Given the description of an element on the screen output the (x, y) to click on. 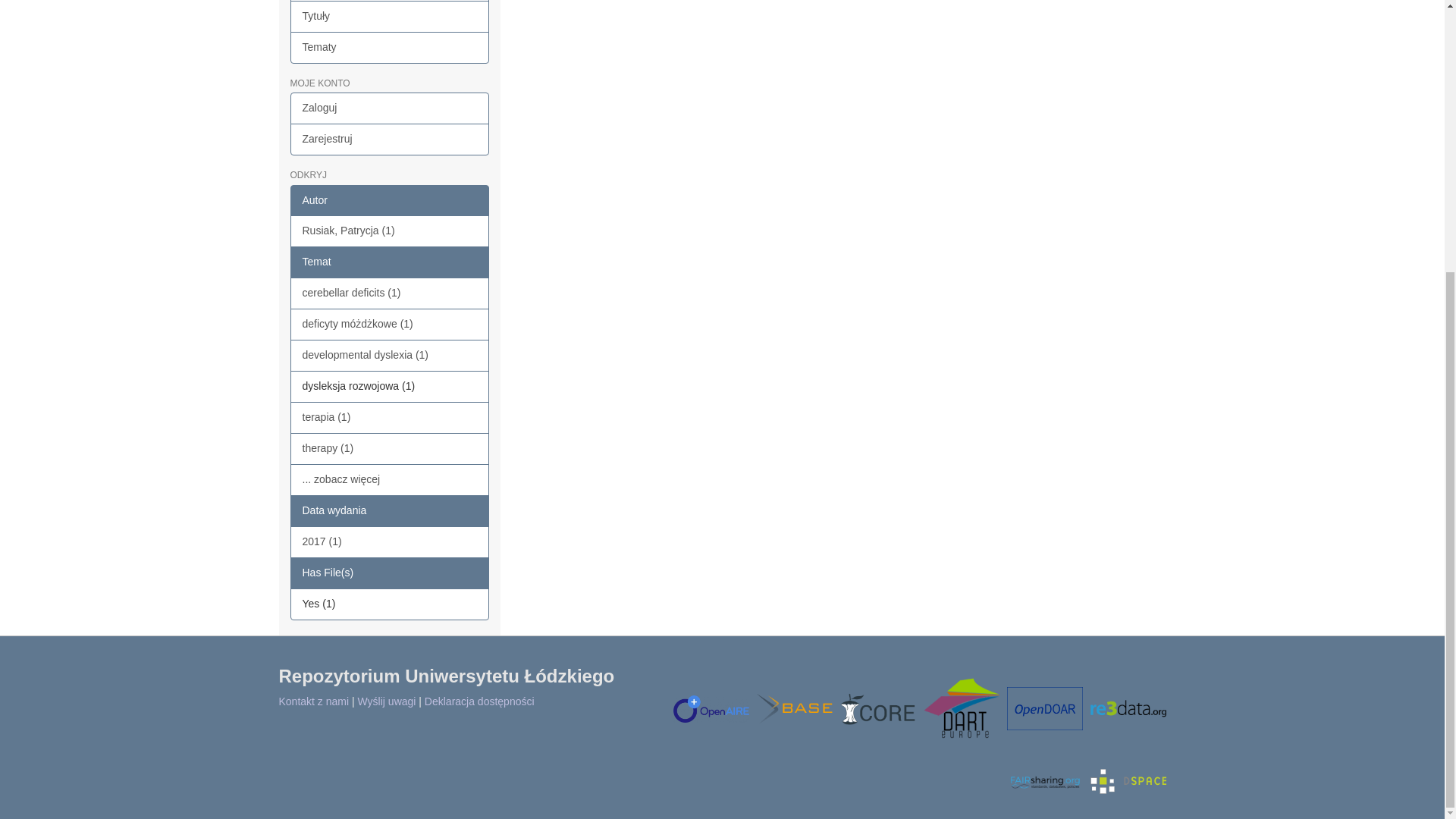
Zaloguj (389, 108)
Tematy (389, 47)
Temat (389, 262)
Zarejestruj (389, 139)
Autor (389, 201)
